Given the description of an element on the screen output the (x, y) to click on. 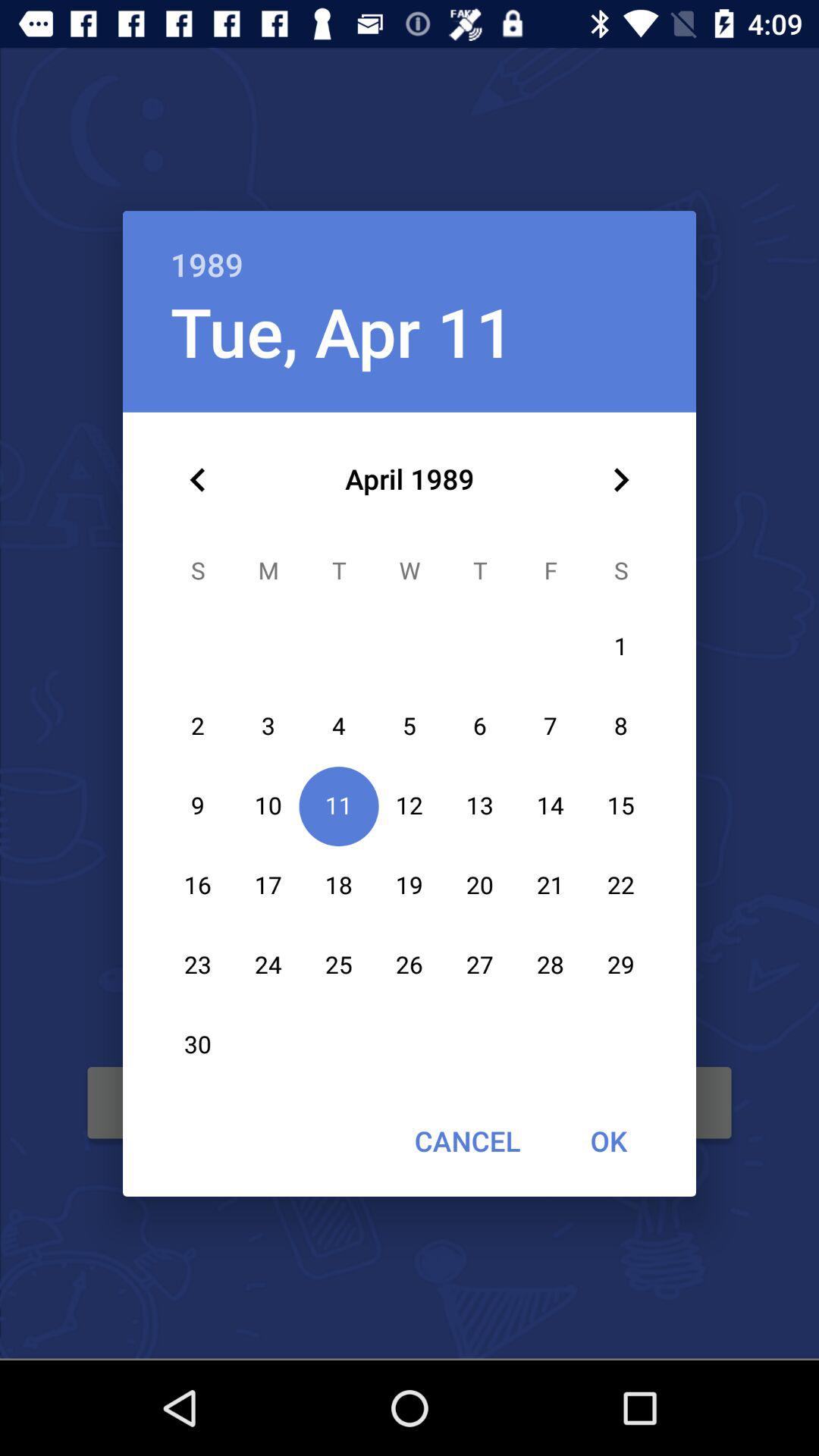
launch the icon at the top right corner (620, 479)
